Given the description of an element on the screen output the (x, y) to click on. 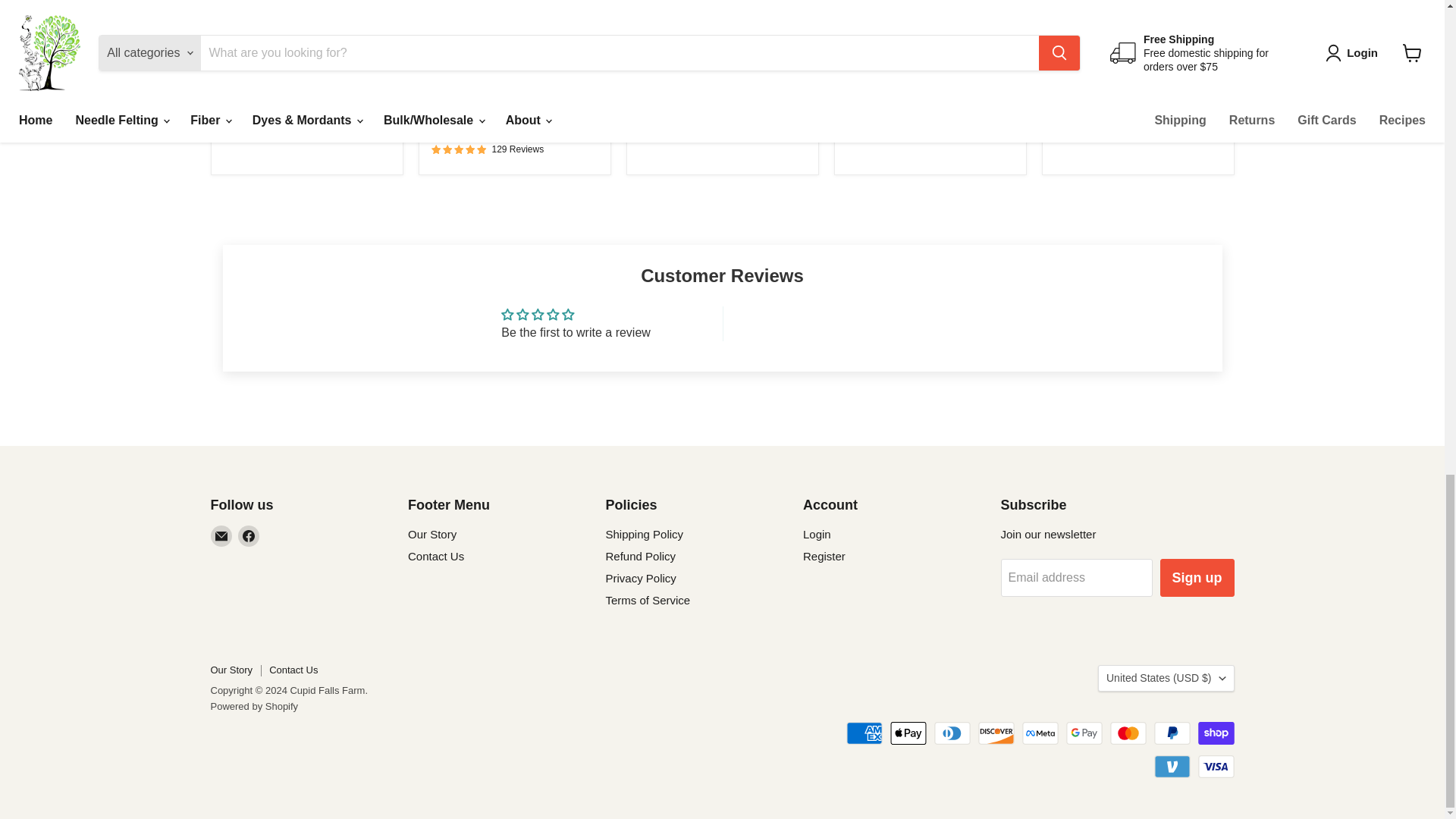
Cupid Falls Farm (260, 98)
Cupid Falls Farm (1091, 98)
Cupid Falls Farm (883, 98)
Cupid Falls Farm (676, 67)
Cupid Falls Farm (467, 114)
Facebook (248, 536)
Email (221, 536)
